Given the description of an element on the screen output the (x, y) to click on. 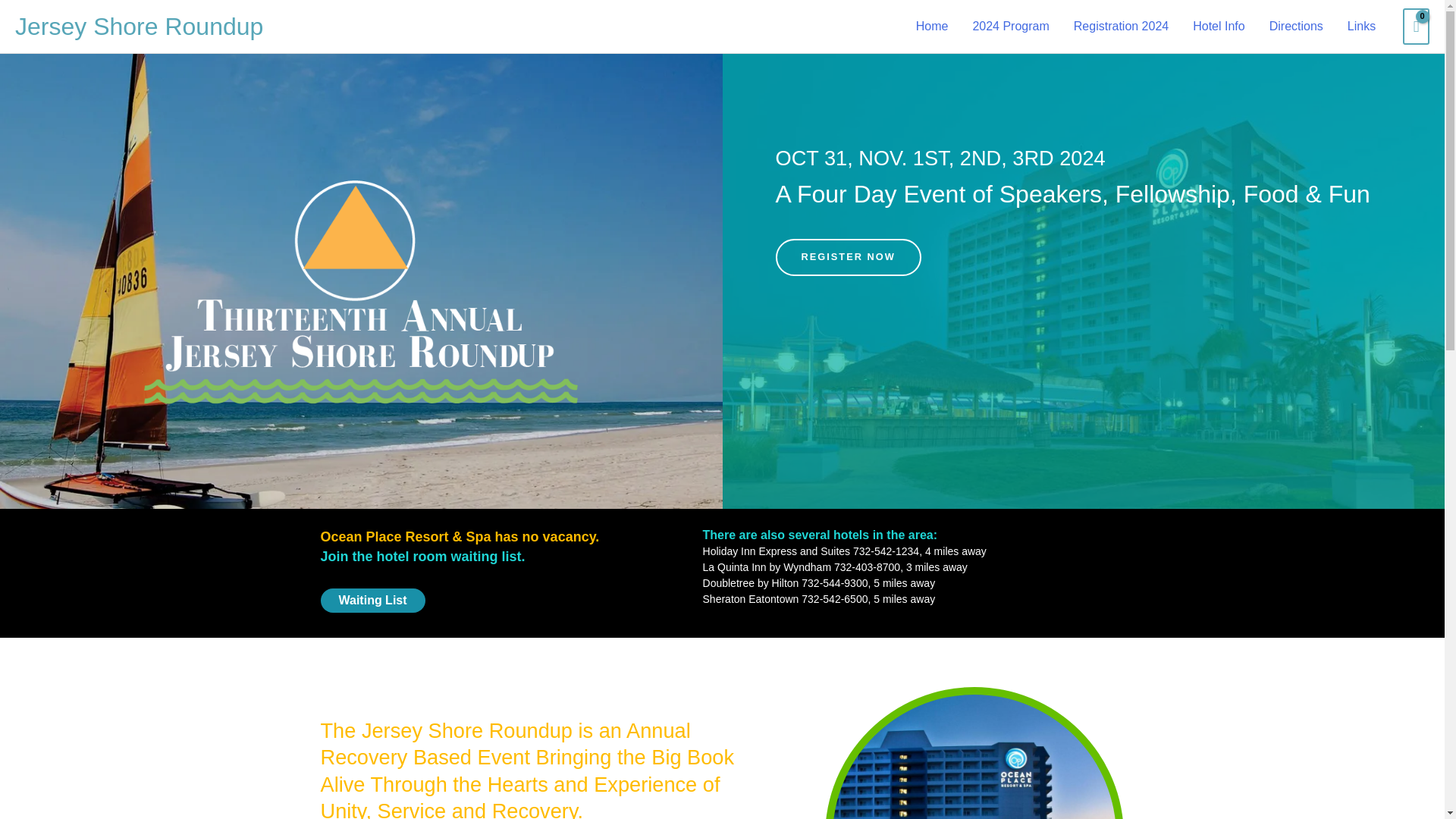
44109877 (974, 756)
Directions (1296, 26)
Waiting List (372, 600)
Home (932, 26)
2024 Program (1010, 26)
Hotel Info (1218, 26)
REGISTER NOW (848, 257)
Jersey Shore Roundup (138, 26)
Links (1361, 26)
Registration 2024 (1120, 26)
